Given the description of an element on the screen output the (x, y) to click on. 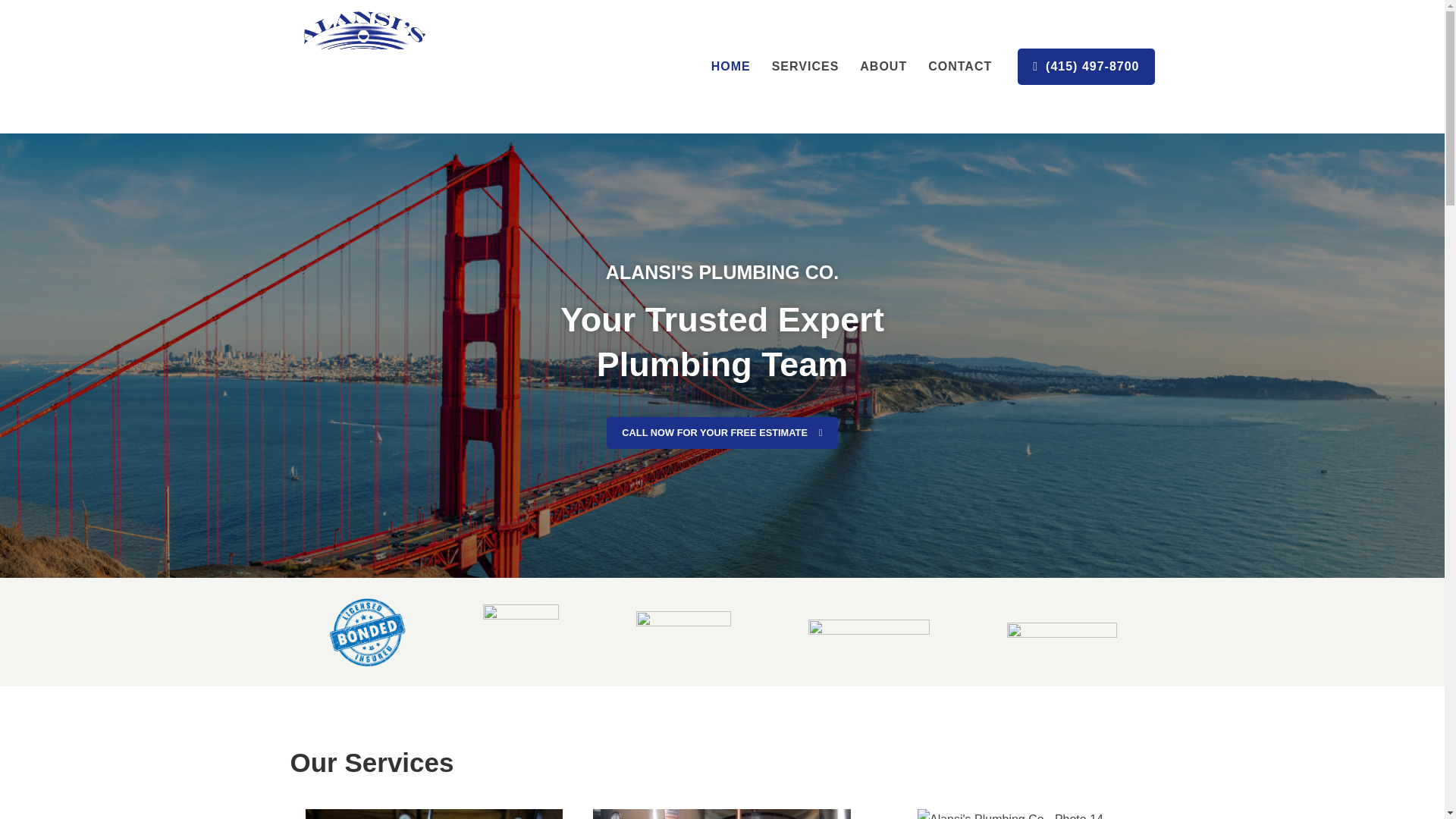
ABOUT (882, 66)
CONTACT (960, 66)
HOME (730, 66)
CALL NOW FOR YOUR FREE ESTIMATE (722, 432)
SERVICES (805, 66)
